Given the description of an element on the screen output the (x, y) to click on. 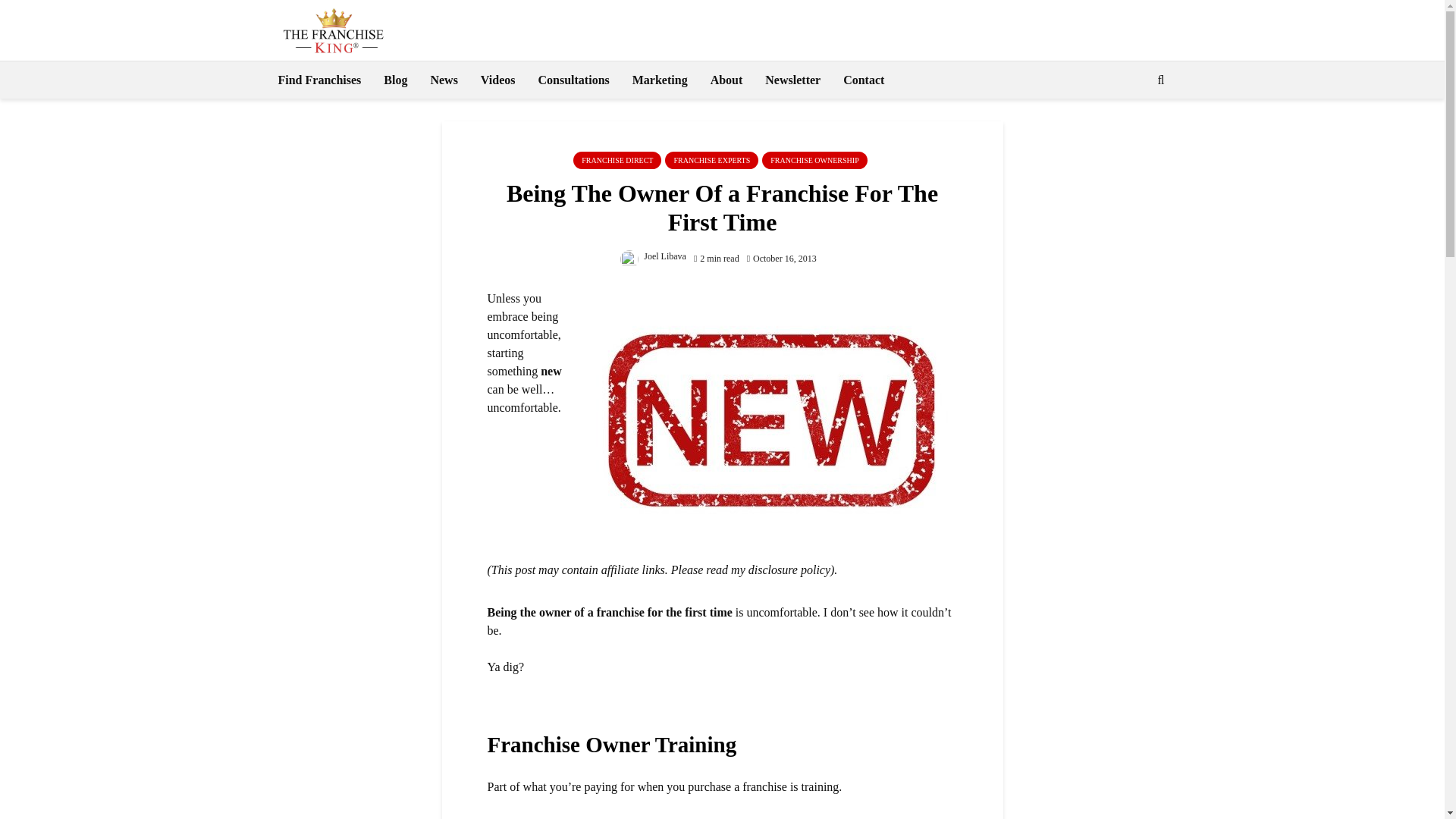
Find Franchises (319, 80)
Joel Libava (652, 255)
Newsletter (792, 80)
Consultations (572, 80)
About (726, 80)
Marketing (659, 80)
Blog (395, 80)
News (443, 80)
Contact (863, 80)
disclosure (772, 569)
FRANCHISE OWNERSHIP (813, 159)
FRANCHISE EXPERTS (711, 159)
FRANCHISE DIRECT (617, 159)
Videos (497, 80)
